Given the description of an element on the screen output the (x, y) to click on. 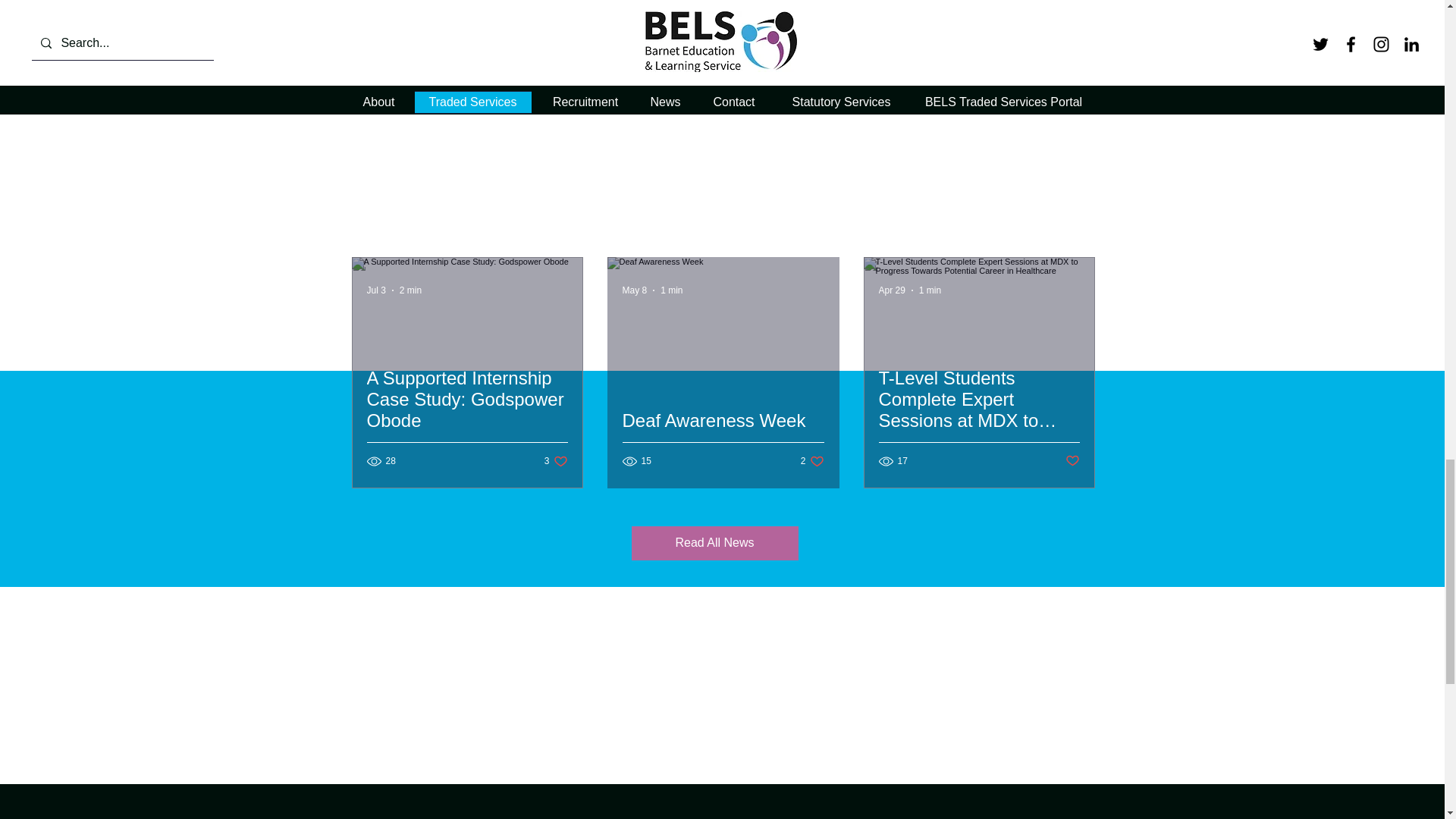
May 8 (633, 290)
Jul 3 (375, 290)
1 min (671, 290)
2 min (410, 290)
1 min (929, 290)
Apr 29 (890, 290)
